Given the description of an element on the screen output the (x, y) to click on. 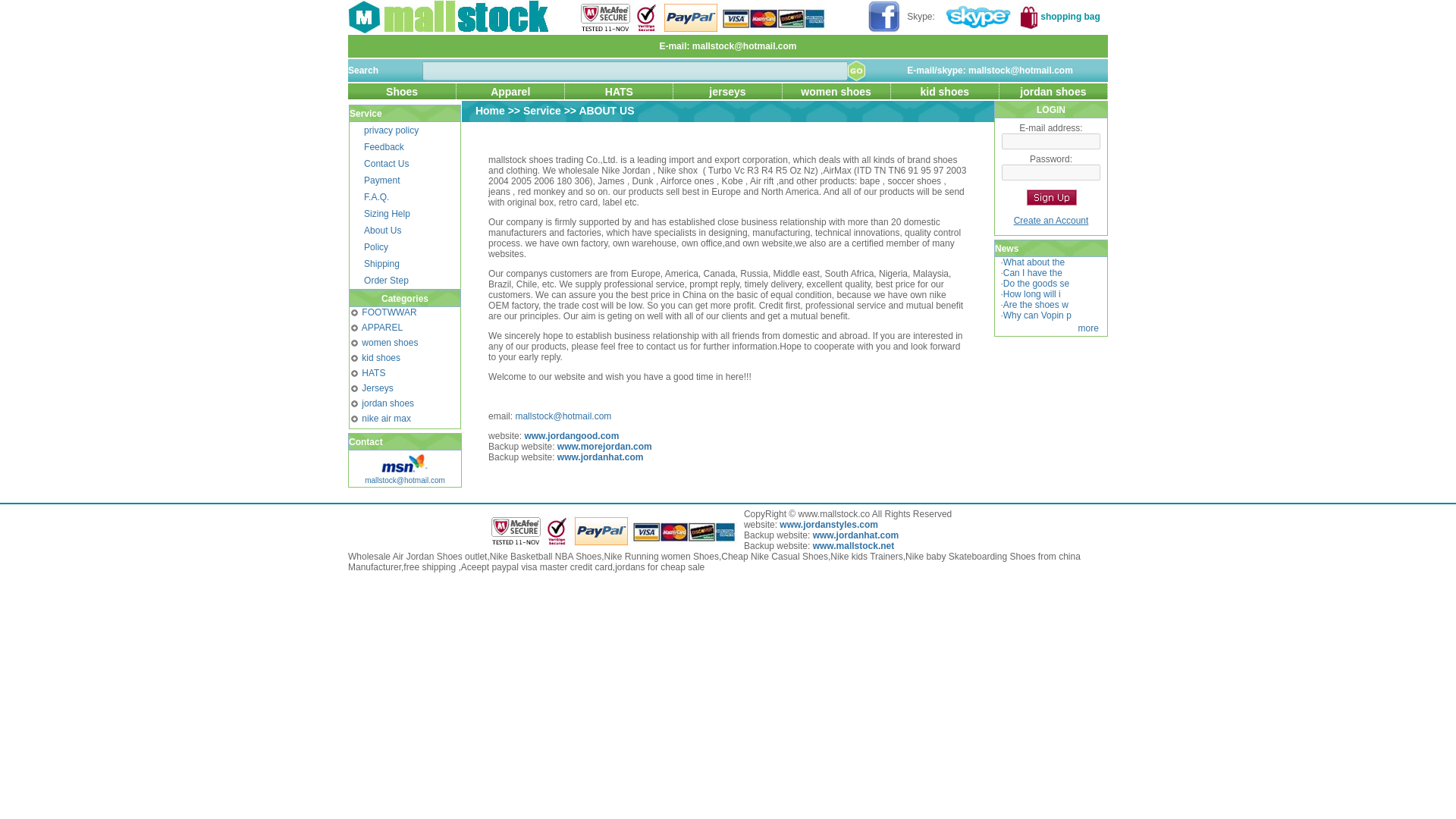
Shoes (401, 91)
What about the sizes of all products? (1033, 262)
Shipping (381, 263)
privacy policy (391, 130)
kid shoes (380, 357)
jordan shoes (1053, 91)
jerseys (727, 91)
F.A.Q. (376, 196)
shopping bag (1070, 16)
kid shoes (944, 91)
How long will it take for shipment (1032, 294)
Payment (381, 180)
Why can Vopin provide AAA quality shoes with very low price? (1037, 315)
Do the goods send door to door? (1035, 283)
HATS (619, 91)
